Given the description of an element on the screen output the (x, y) to click on. 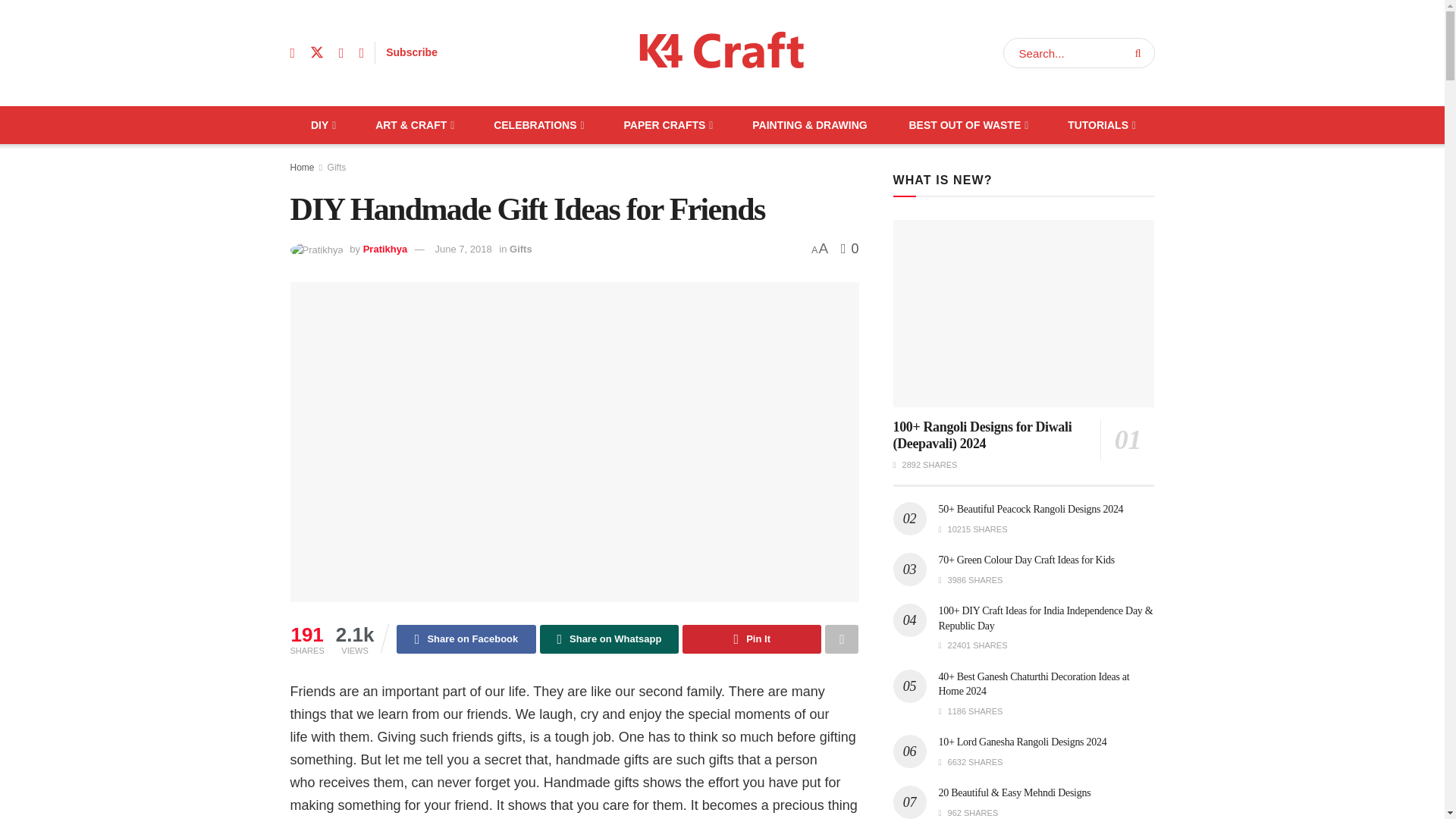
TUTORIALS (1100, 125)
DIY (321, 125)
Subscribe (411, 51)
CELEBRATIONS (537, 125)
PAPER CRAFTS (667, 125)
BEST OUT OF WASTE (967, 125)
